Given the description of an element on the screen output the (x, y) to click on. 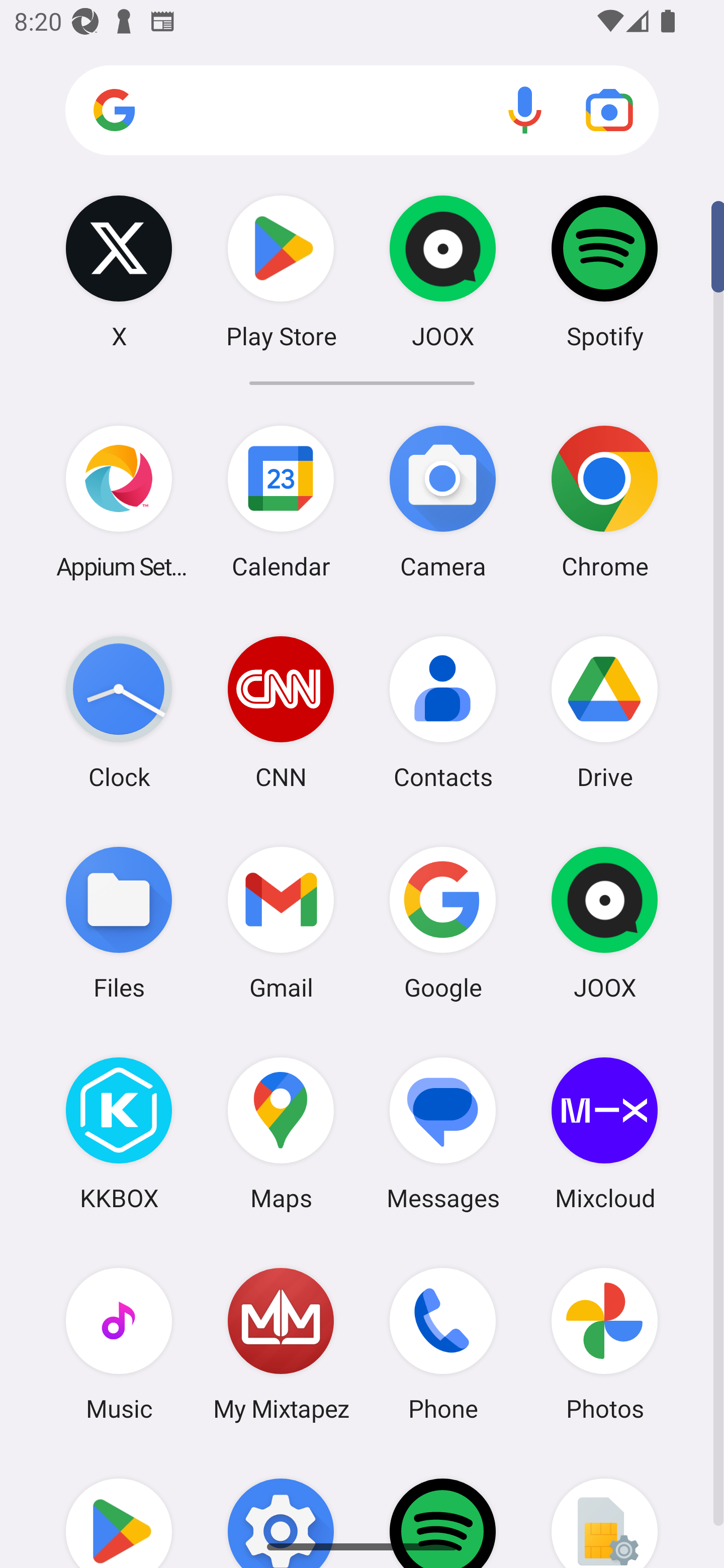
Voice search (524, 109)
Google Lens (608, 109)
X (118, 270)
Play Store (280, 270)
JOOX (443, 270)
Spotify (604, 270)
Appium Settings (118, 501)
Calendar (280, 501)
Camera (443, 501)
Chrome (604, 501)
Clock (118, 711)
CNN (280, 711)
Contacts (443, 711)
Drive (604, 711)
Files (118, 922)
Gmail (280, 922)
Google (443, 922)
JOOX (604, 922)
KKBOX (118, 1133)
Maps (280, 1133)
Messages (443, 1133)
Mixcloud (604, 1133)
Music (118, 1343)
My Mixtapez (280, 1343)
Phone (443, 1343)
Photos (604, 1343)
